Given the description of an element on the screen output the (x, y) to click on. 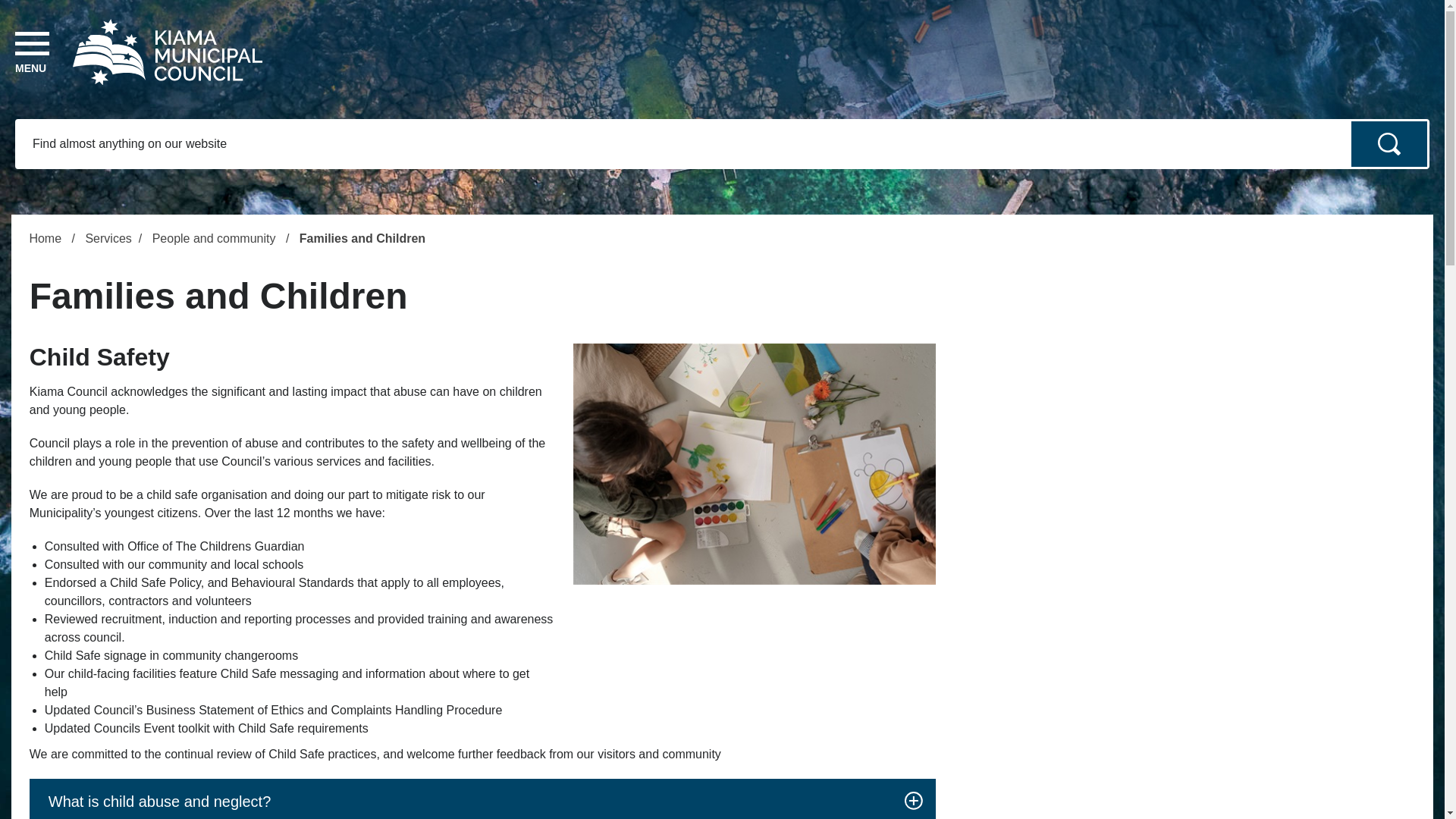
Search (1388, 144)
Search (1388, 144)
Search (1388, 144)
Kiama Municipal Council - Home - Logo (167, 51)
